Given the description of an element on the screen output the (x, y) to click on. 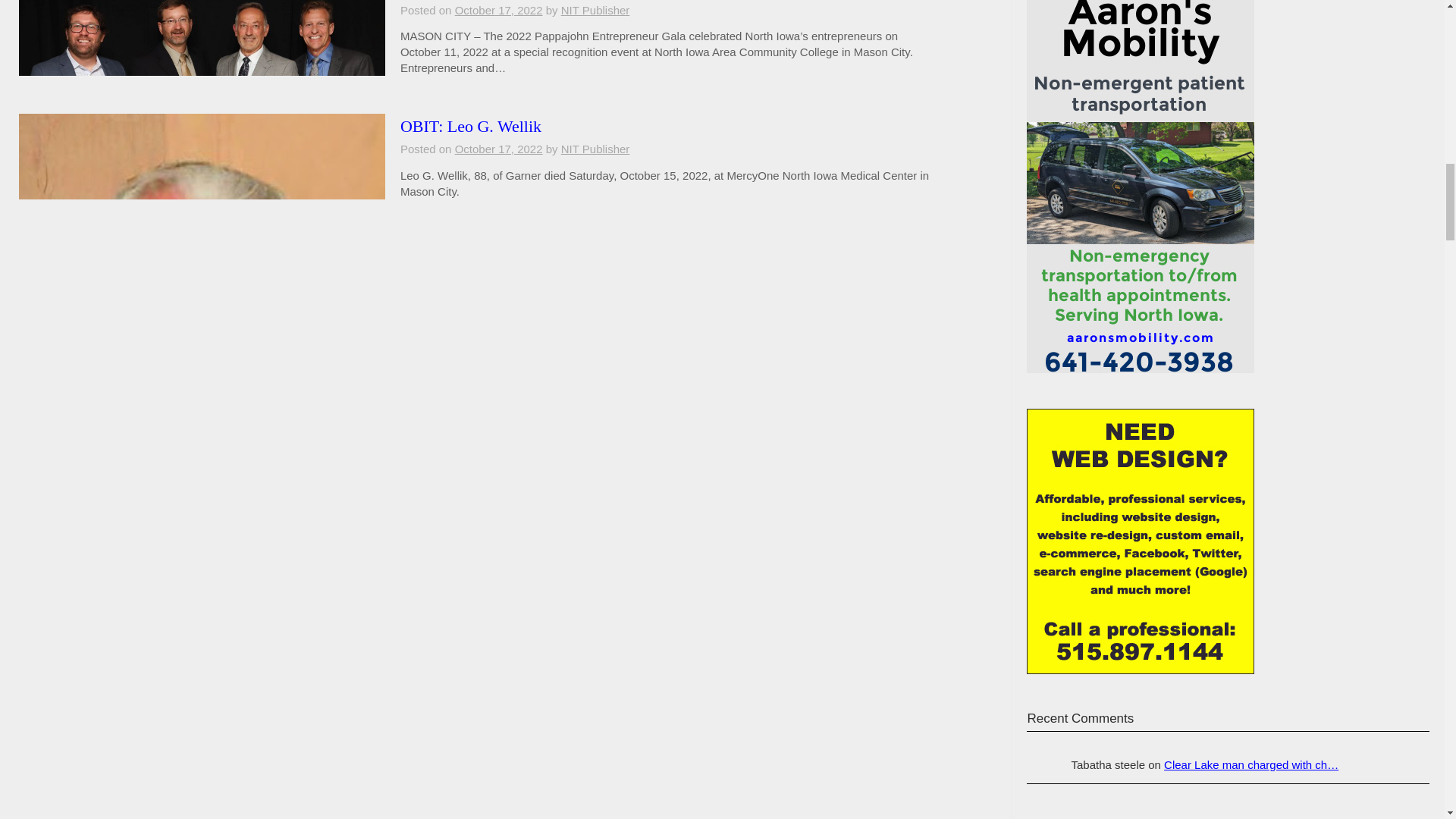
Tabatha steele (1044, 764)
